Given the description of an element on the screen output the (x, y) to click on. 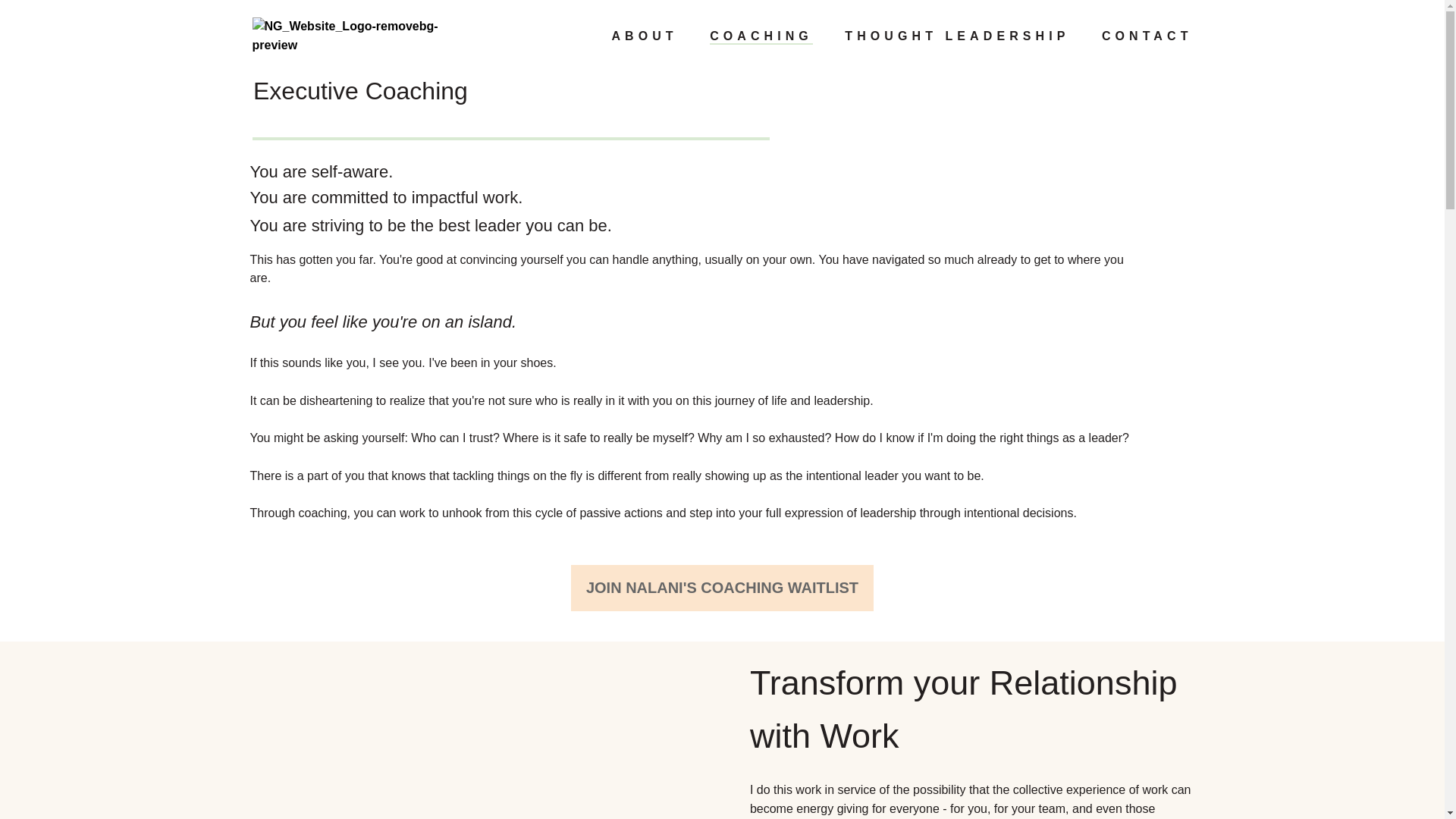
ABOUT (644, 35)
COACHING (761, 35)
CONTACT (1147, 35)
JOIN NALANI'S COACHING WAITLIST (721, 587)
THOUGHT LEADERSHIP (956, 35)
